Given the description of an element on the screen output the (x, y) to click on. 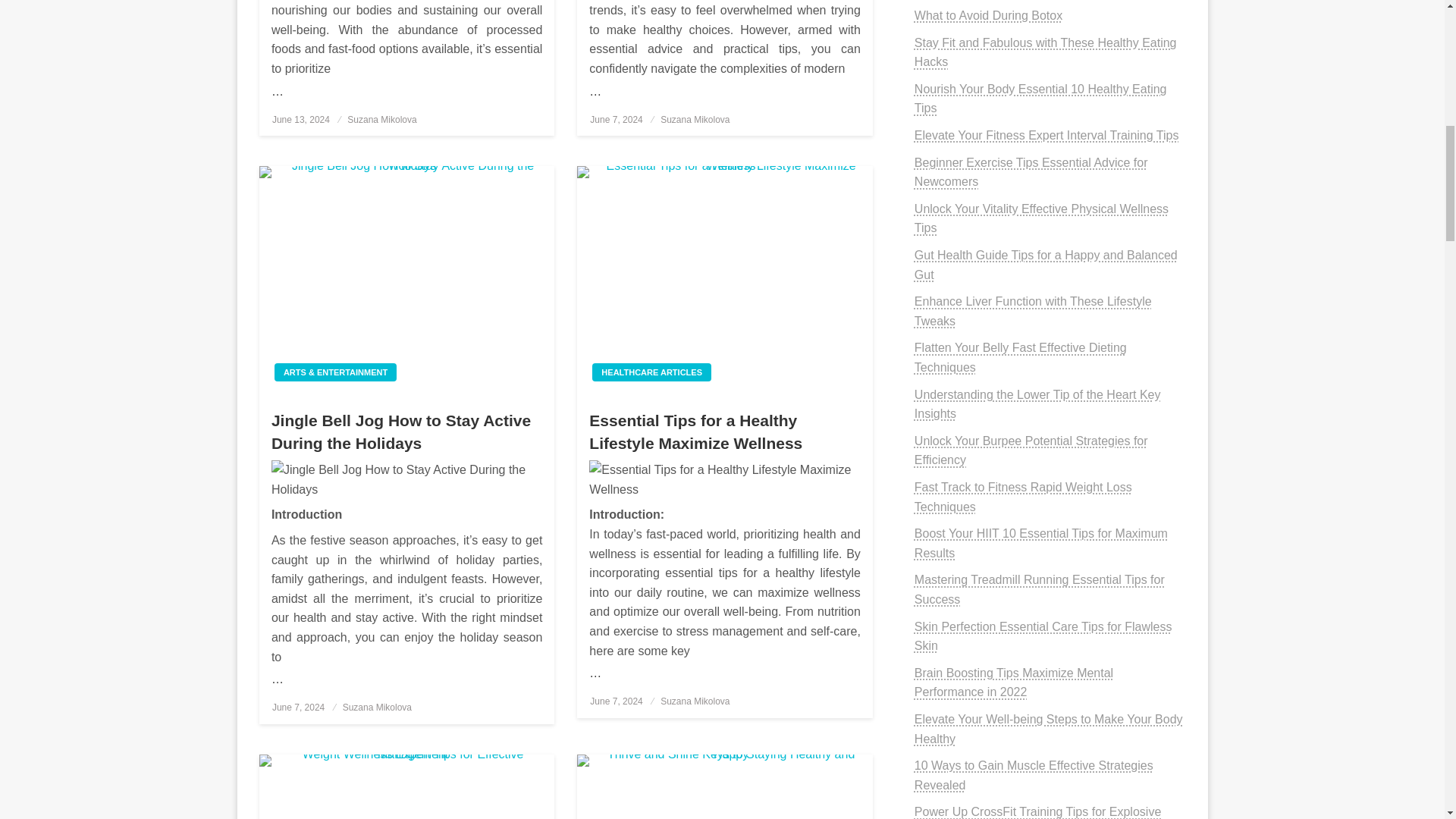
Suzana Mikolova (381, 119)
Suzana Mikolova (695, 119)
Jingle Bell Jog How to Stay Active During the Holidays (406, 279)
Jingle Bell Jog How to Stay Active During the Holidays (405, 479)
Essential Tips for a Healthy Lifestyle Maximize Wellness (724, 279)
Weight Wellness Expert Tips for Effective Management (406, 786)
Suzana Mikolova (695, 701)
Essential Tips for a Healthy Lifestyle Maximize Wellness (724, 479)
Suzana Mikolova (377, 706)
